Given the description of an element on the screen output the (x, y) to click on. 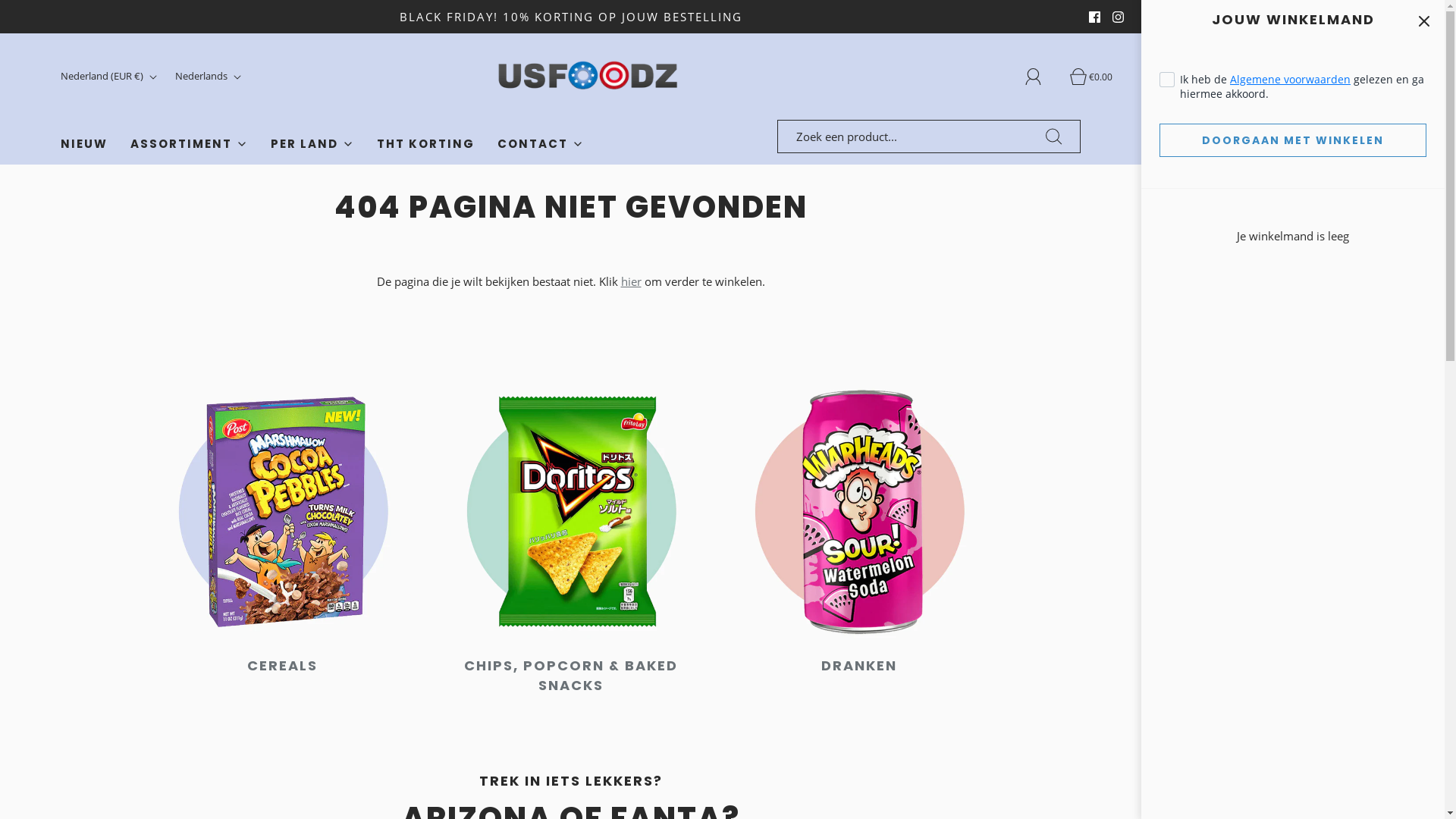
Nederlands Element type: text (209, 76)
FACEBOOK ICON Element type: text (1094, 16)
DOORGAAN MET WINKELEN Element type: text (1292, 139)
CONTACT Element type: text (540, 143)
CEREALS Element type: text (282, 664)
ASSORTIMENT Element type: text (188, 143)
INSTAGRAM ICON Element type: text (1117, 16)
Login Element type: hover (1041, 76)
DRANKEN Element type: text (858, 664)
PER LAND Element type: text (312, 143)
THT KORTING Element type: text (425, 143)
NIEUW Element type: text (83, 143)
hier Element type: text (630, 280)
BLACK FRIDAY! 10% KORTING OP JOUW BESTELLING Element type: text (570, 16)
CHIPS, POPCORN & BAKED SNACKS Element type: text (570, 674)
Algemene voorwaarden Element type: text (1290, 79)
